Given the description of an element on the screen output the (x, y) to click on. 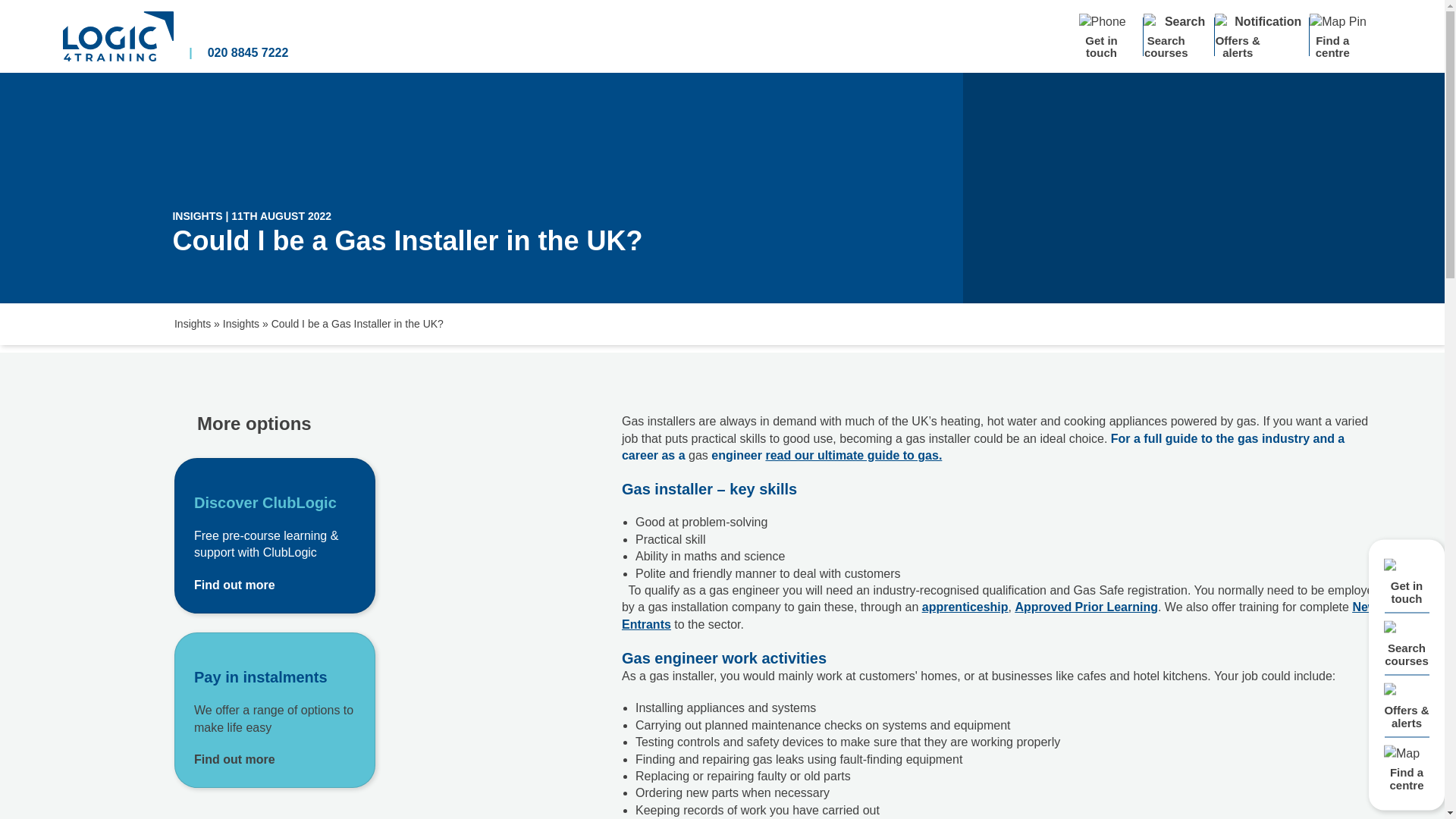
apprenticeship (965, 606)
Find out more (274, 535)
Insights (192, 323)
Insights (240, 323)
Get in touch (1109, 36)
Find out more (274, 585)
Link to the homepage (117, 36)
Search courses (1178, 36)
read our ultimate guide to gas. (853, 454)
New Entrants (999, 614)
